Given the description of an element on the screen output the (x, y) to click on. 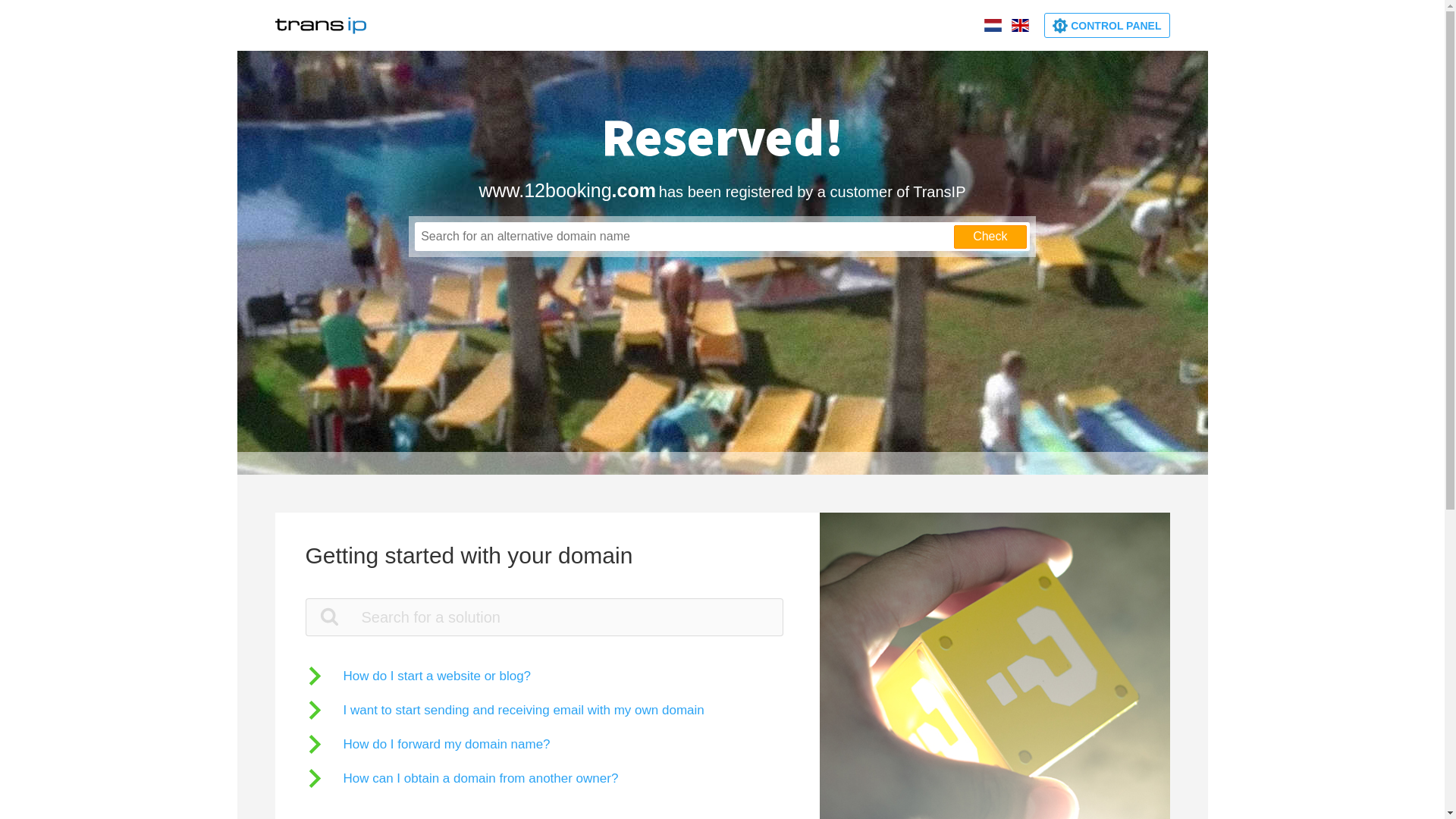
Check Element type: text (989, 236)
How do I start a website or blog? Element type: text (417, 675)
CONTROL PANEL Element type: text (1106, 24)
How do I forward my domain name? Element type: text (426, 743)
How can I obtain a domain from another owner? Element type: text (461, 777)
